Given the description of an element on the screen output the (x, y) to click on. 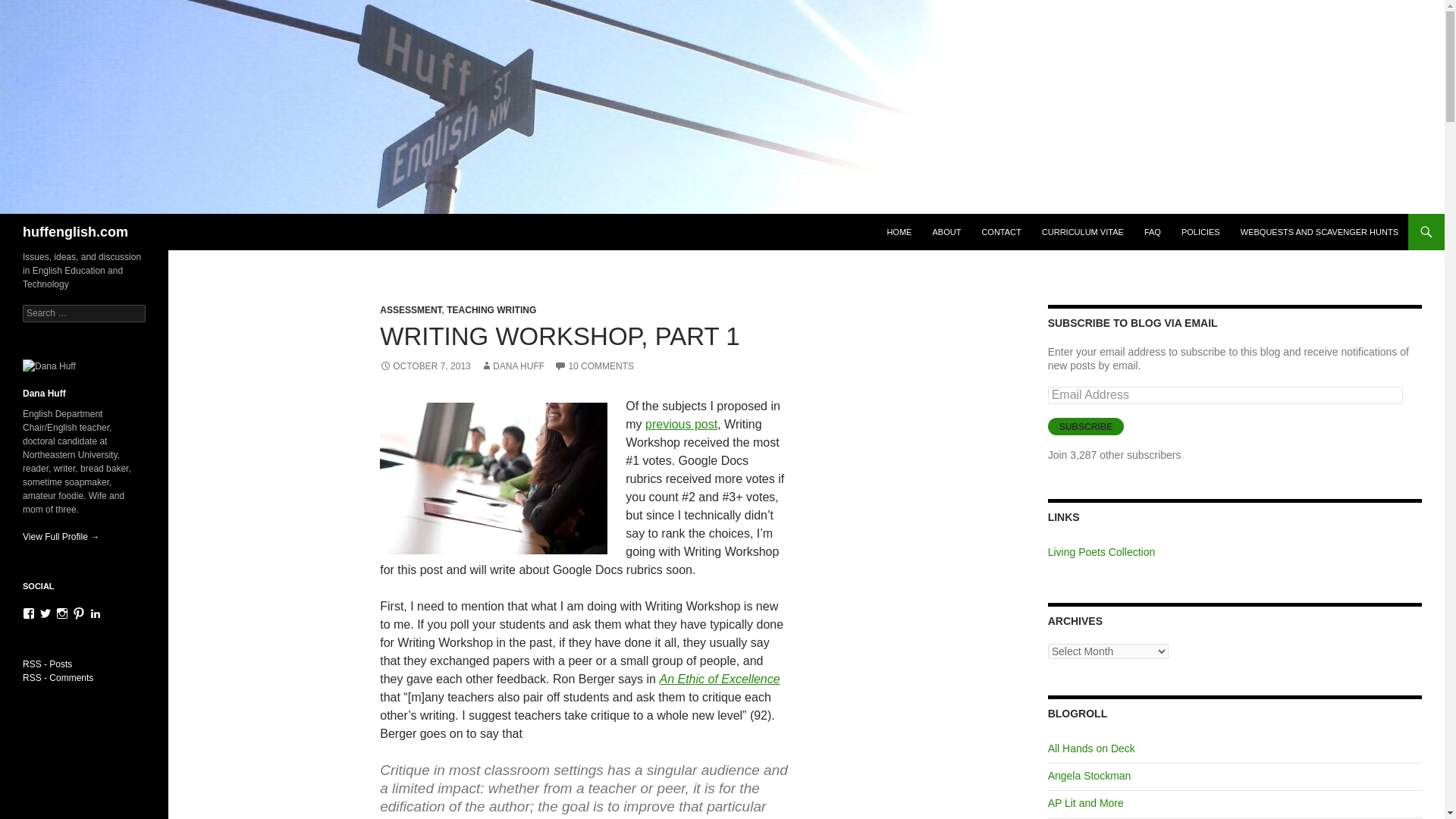
HOME (898, 231)
ABOUT (946, 231)
ASSESSMENT (410, 309)
A Poll: What Would You Like to Read? (681, 423)
10 COMMENTS (593, 366)
CONTACT (1000, 231)
POLICIES (1200, 231)
FAQ (1152, 231)
An Ethic of Excellence (718, 678)
huffenglish.com (75, 231)
